Given the description of an element on the screen output the (x, y) to click on. 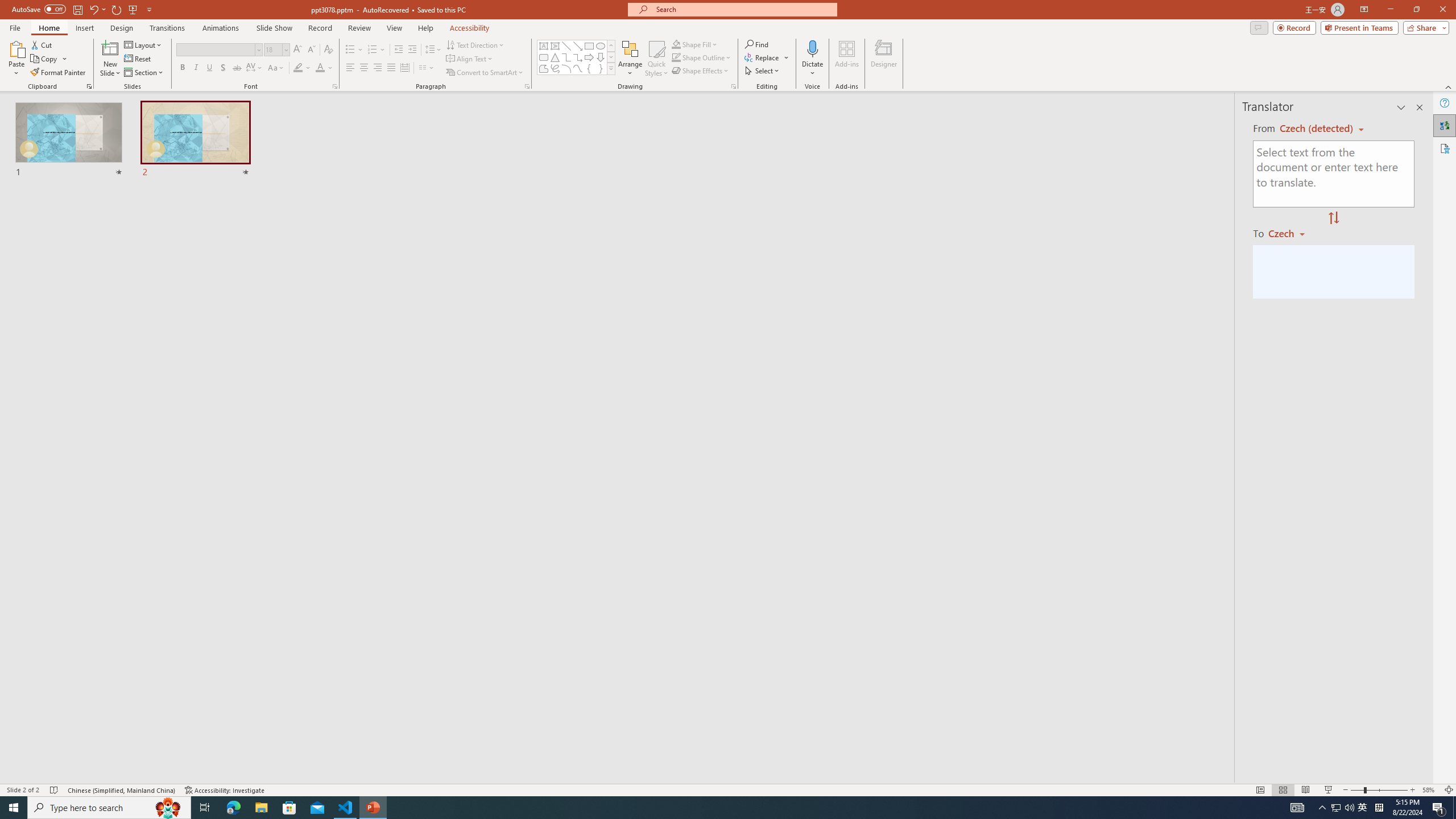
Underline (209, 67)
Quick Access Toolbar (82, 9)
Close (1442, 9)
Center (363, 67)
Shapes (611, 68)
Vertical Text Box (554, 45)
Normal (1260, 790)
Left Brace (589, 68)
Layout (143, 44)
Rectangle (589, 45)
Class: MsoCommandBar (728, 789)
Numbering (372, 49)
Shape Fill (694, 44)
Distributed (404, 67)
Swap "from" and "to" languages. (1333, 218)
